Given the description of an element on the screen output the (x, y) to click on. 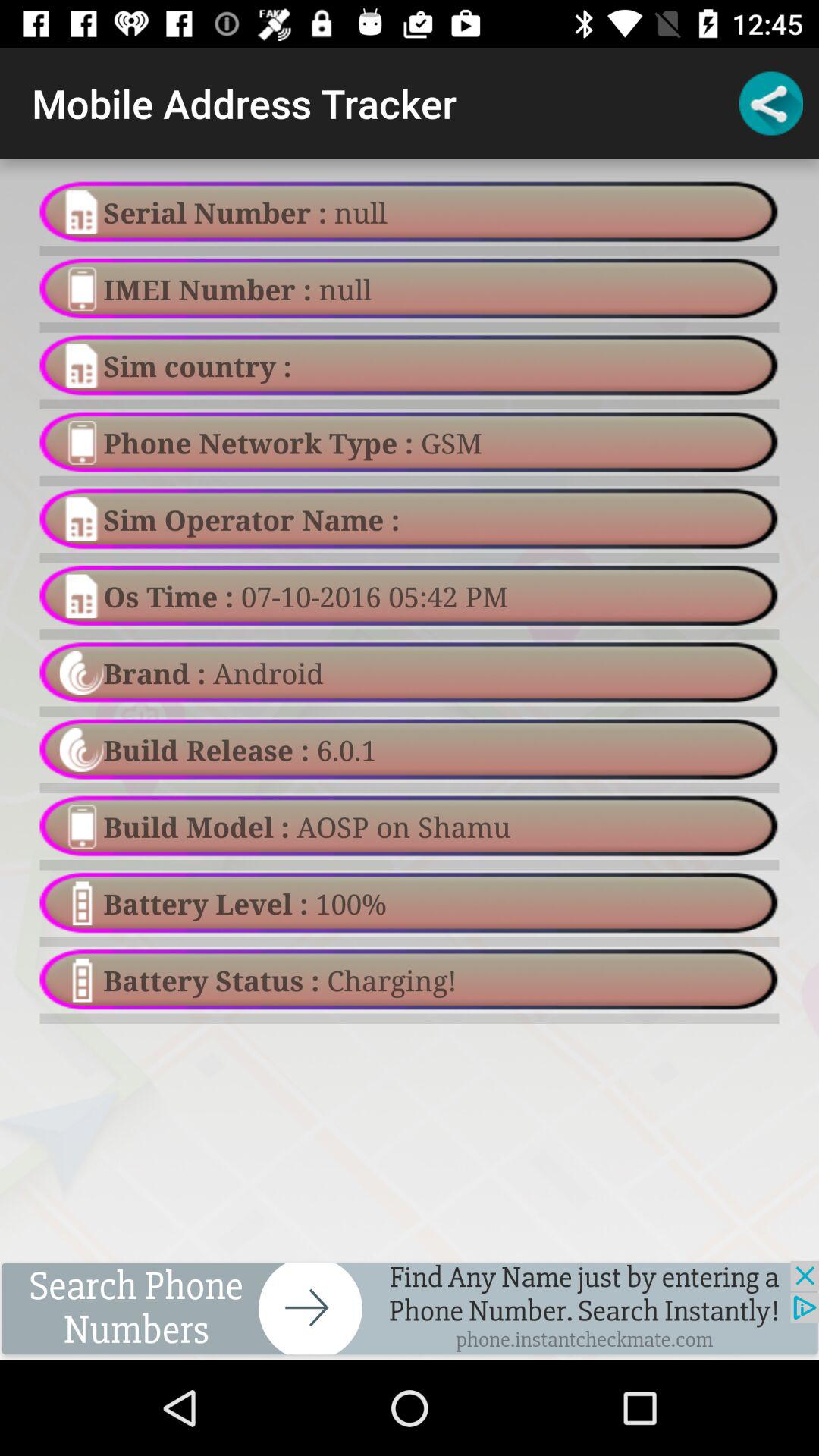
open advertisement (409, 1310)
